Given the description of an element on the screen output the (x, y) to click on. 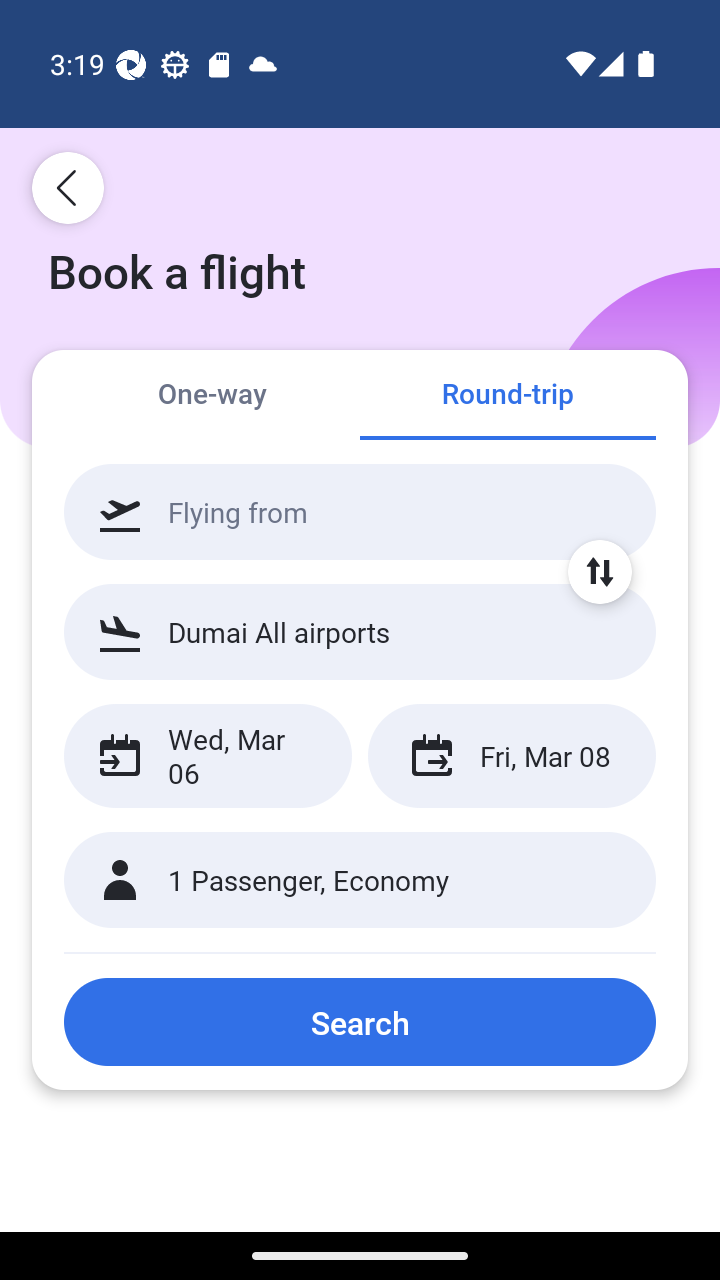
One-way (212, 394)
Flying from (359, 511)
Dumai All airports (359, 631)
Wed, Mar 06 (208, 755)
Fri, Mar 08 (511, 755)
1 Passenger, Economy (359, 880)
Search (359, 1022)
